Given the description of an element on the screen output the (x, y) to click on. 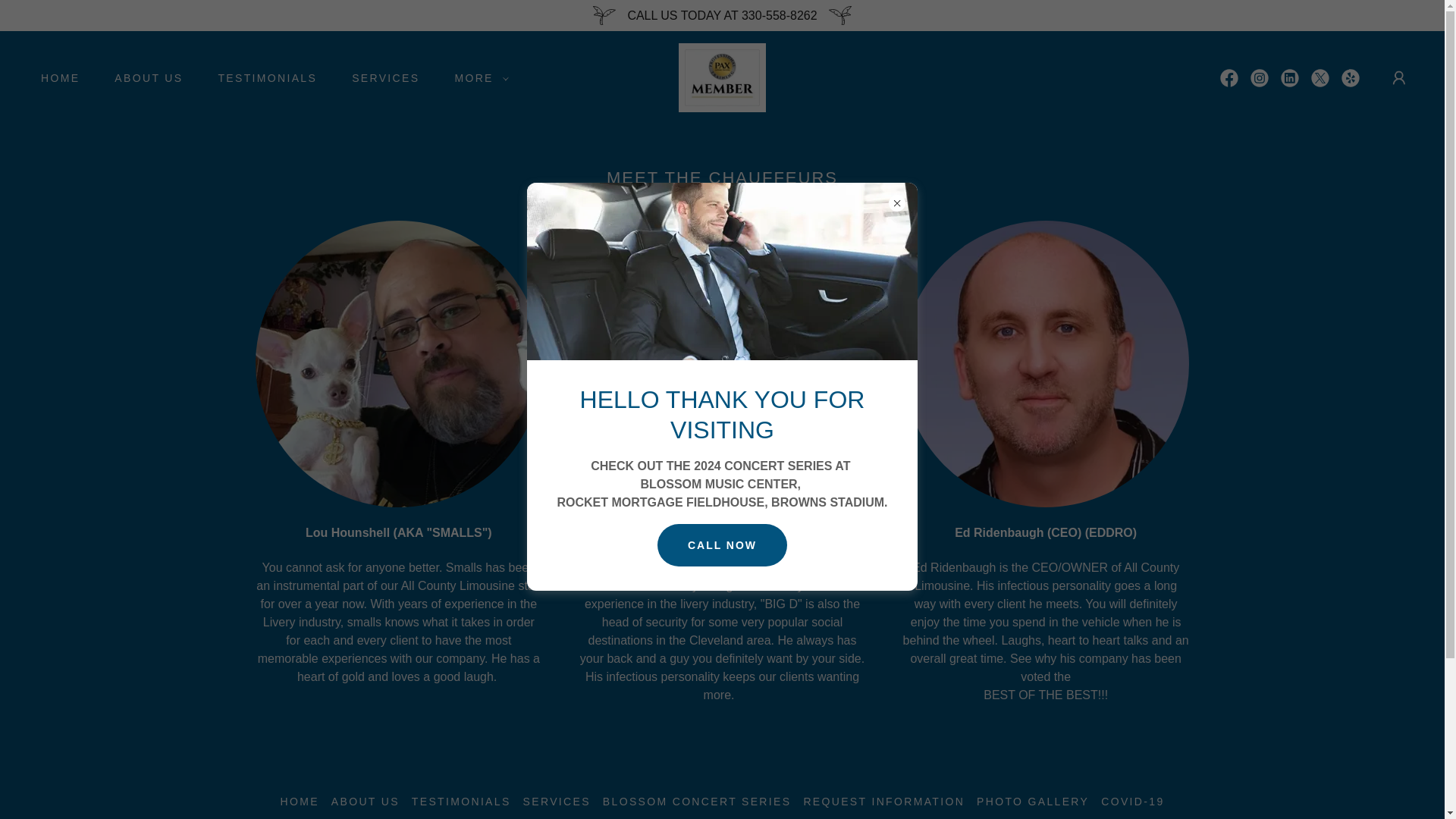
HOME (55, 76)
TESTIMONIALS (261, 76)
ABOUT US (143, 76)
SERVICES (379, 76)
MORE (477, 76)
